Given the description of an element on the screen output the (x, y) to click on. 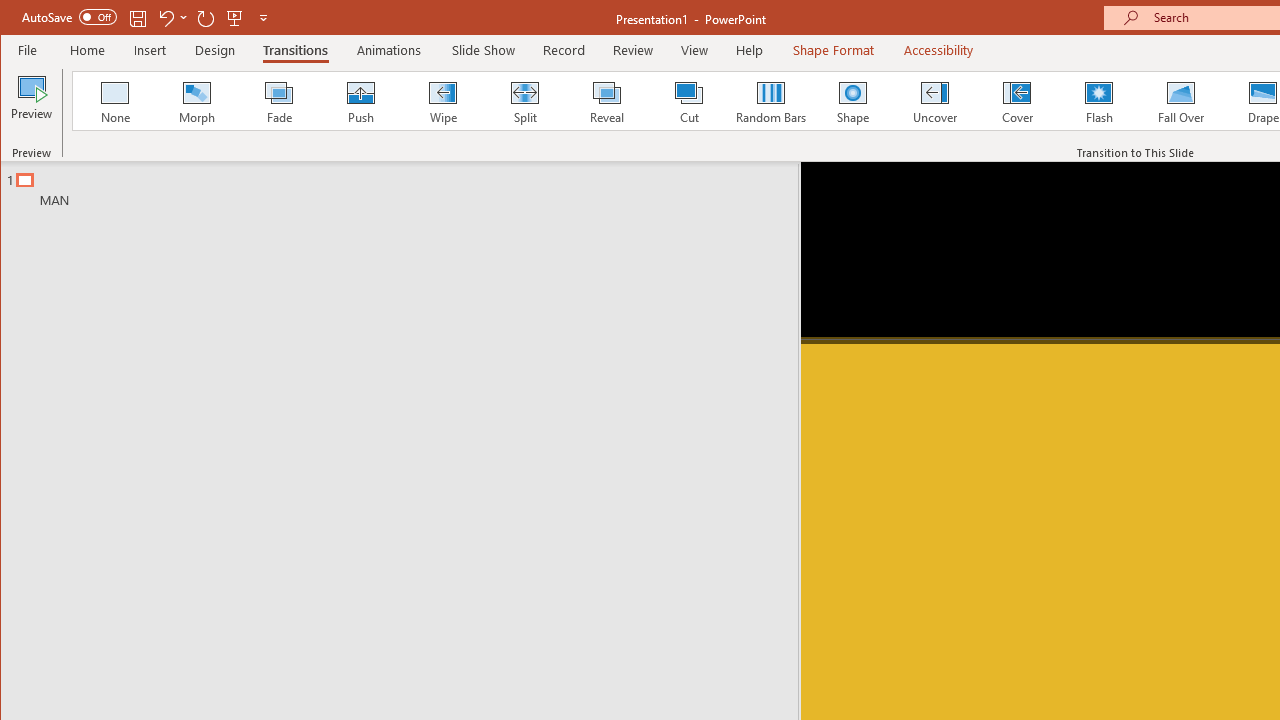
Uncover (934, 100)
Morph (197, 100)
